Given the description of an element on the screen output the (x, y) to click on. 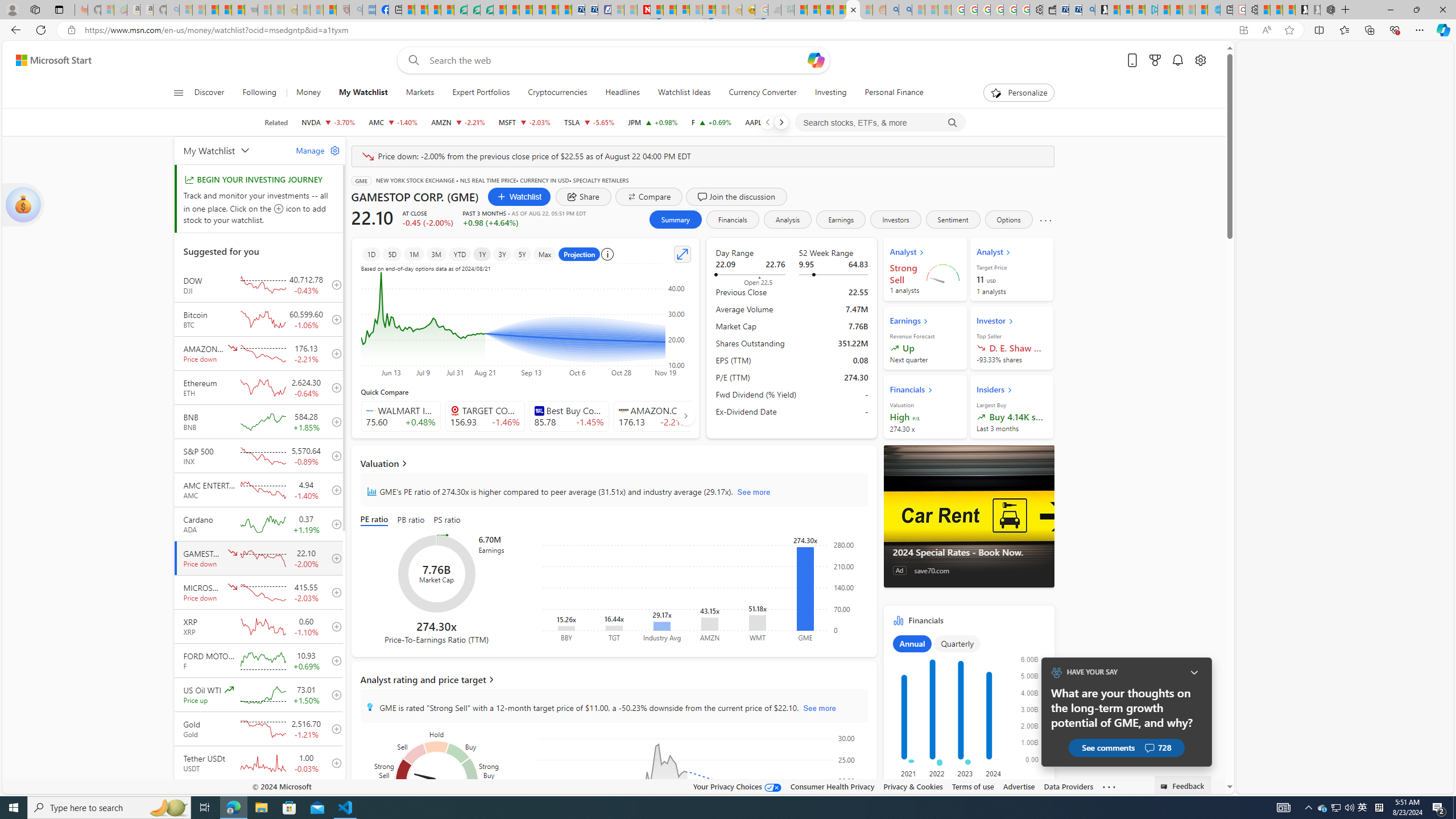
My Watchlist (362, 92)
Investing (830, 92)
Cheap Hotels - Save70.com (590, 9)
Headlines (622, 92)
